Given the description of an element on the screen output the (x, y) to click on. 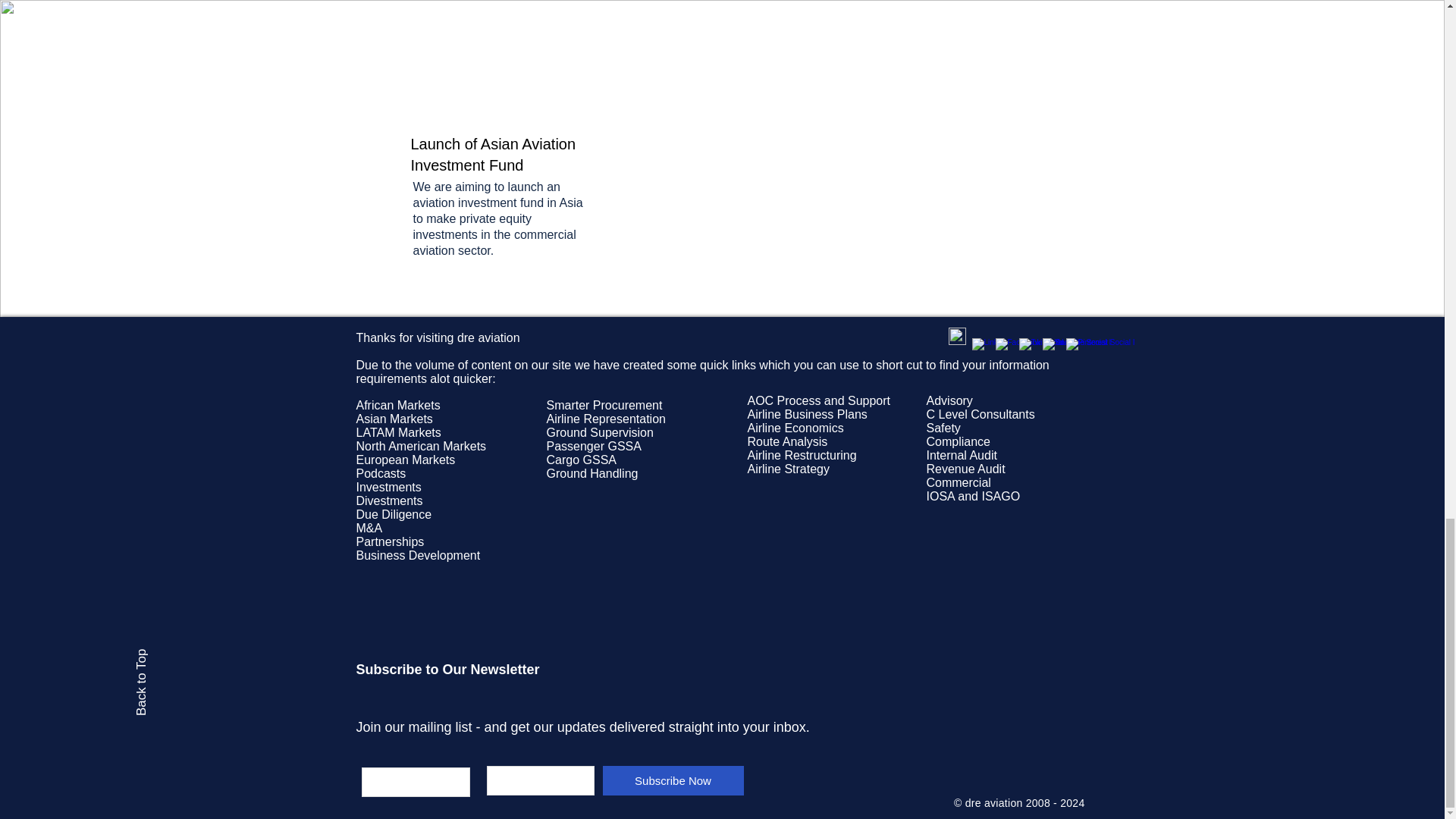
LATAM Markets (398, 431)
African Markets (398, 404)
Asian Markets (394, 418)
